Given the description of an element on the screen output the (x, y) to click on. 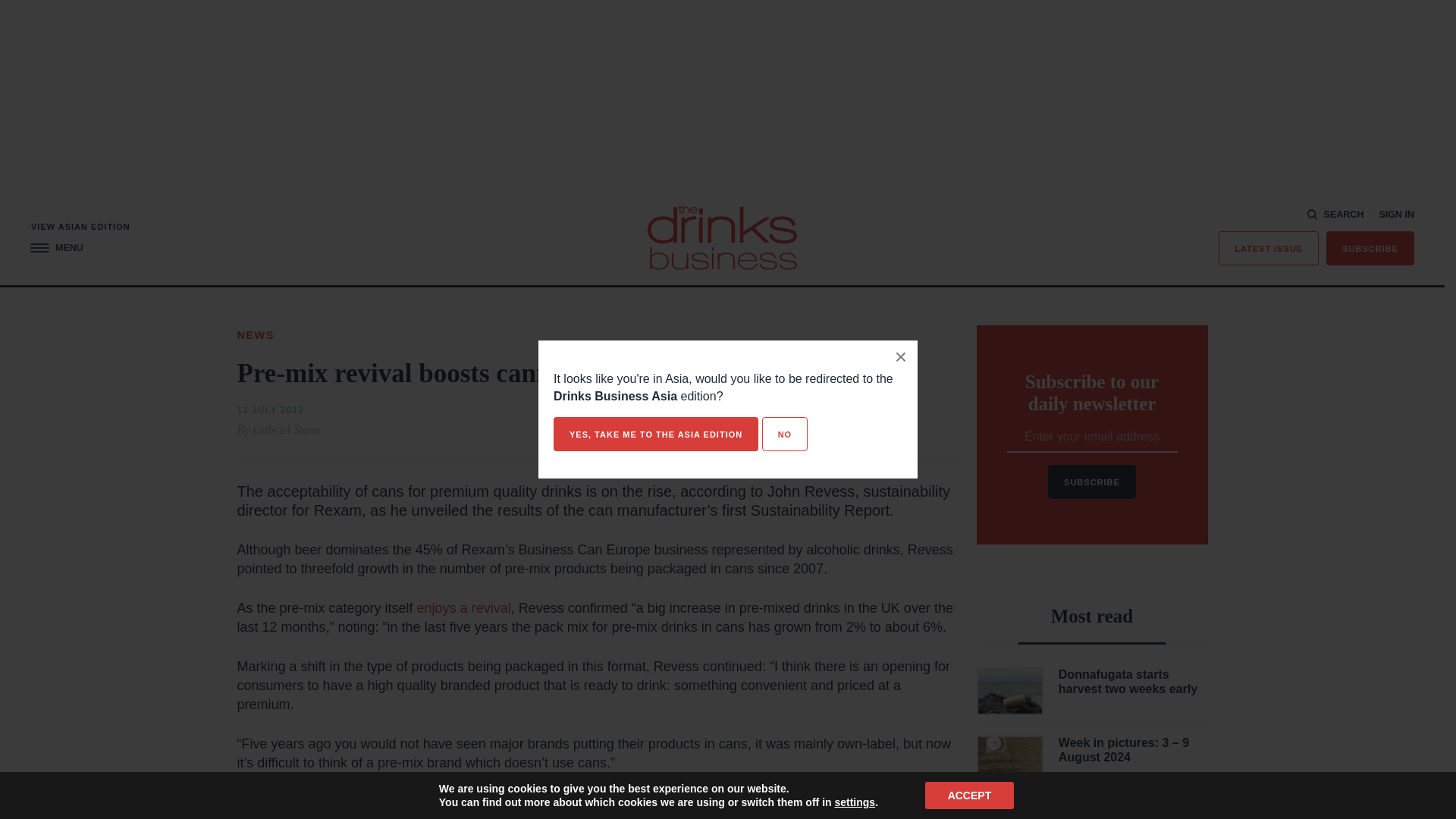
MENU (56, 248)
VIEW ASIAN EDITION (80, 226)
SUBSCRIBE (1369, 247)
SIGN IN (1395, 214)
NO (784, 433)
SEARCH (1335, 214)
YES, TAKE ME TO THE ASIA EDITION (655, 433)
LATEST ISSUE (1268, 247)
The Drinks Business (721, 237)
